Given the description of an element on the screen output the (x, y) to click on. 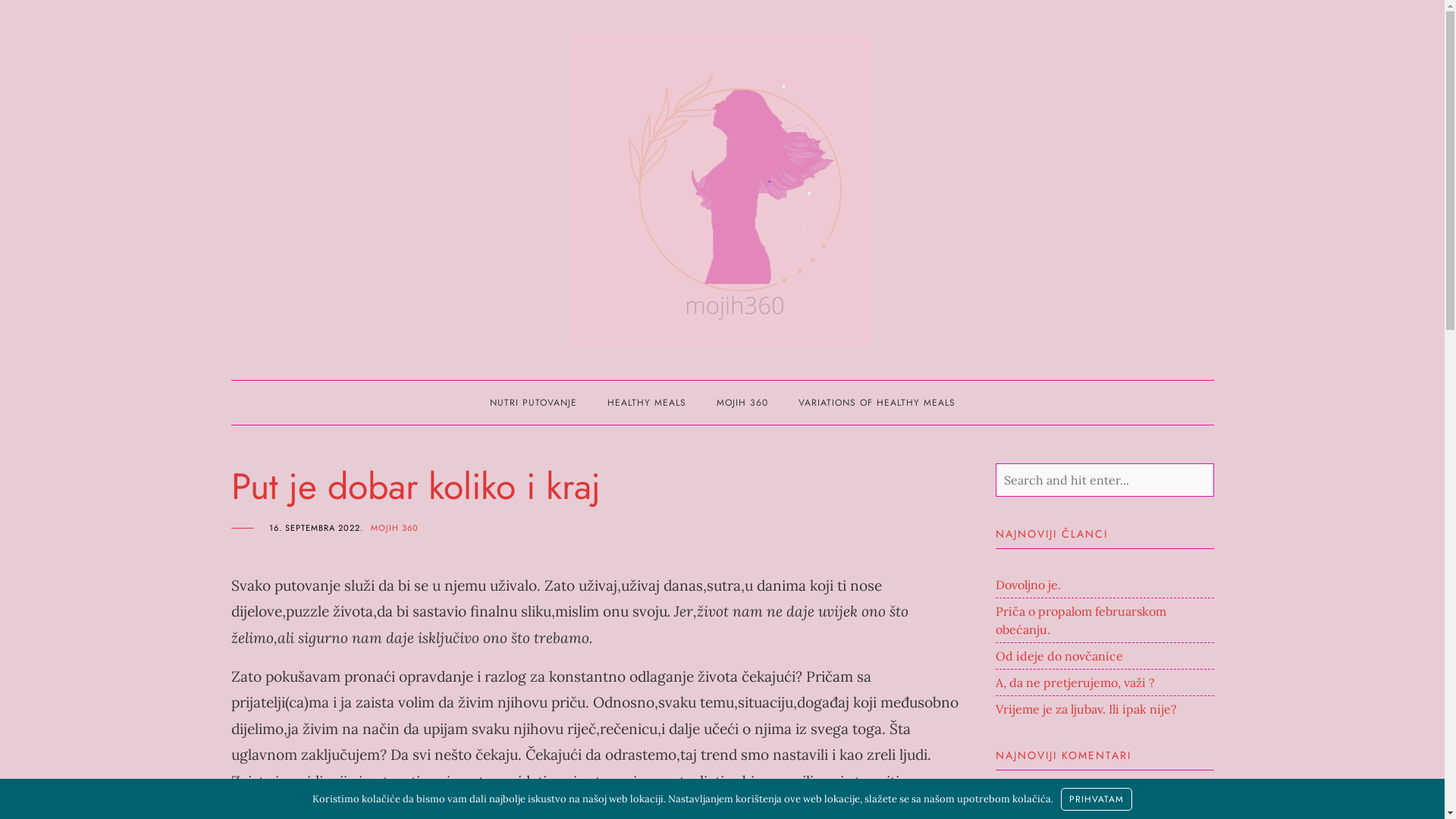
MOJIH 360 Element type: text (741, 402)
Vrijeme je za ljubav. Ili ipak nije? Element type: text (1085, 708)
MOJIH 360 Element type: text (393, 527)
NUTRI PUTOVANJE Element type: text (533, 402)
HEALTHY MEALS Element type: text (645, 402)
VARIATIONS OF HEALTHY MEALS Element type: text (875, 402)
PRIHVATAM Element type: text (1096, 798)
Dovoljno je. Element type: text (1027, 584)
